Given the description of an element on the screen output the (x, y) to click on. 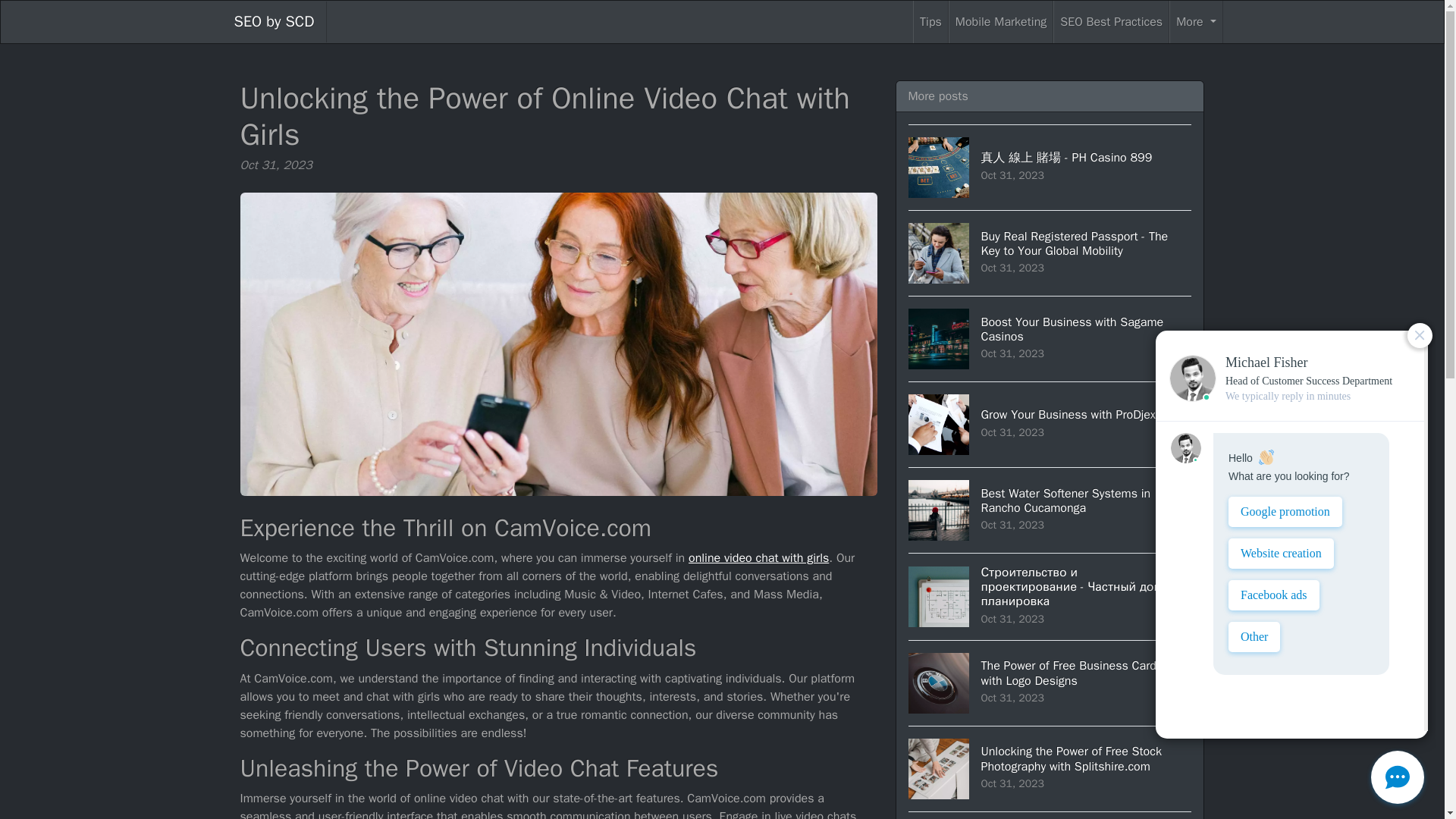
More (1050, 509)
SEO by SCD (1196, 21)
Mobile Marketing (273, 21)
online video chat with girls (1050, 423)
SEO Best Practices (1050, 338)
